Given the description of an element on the screen output the (x, y) to click on. 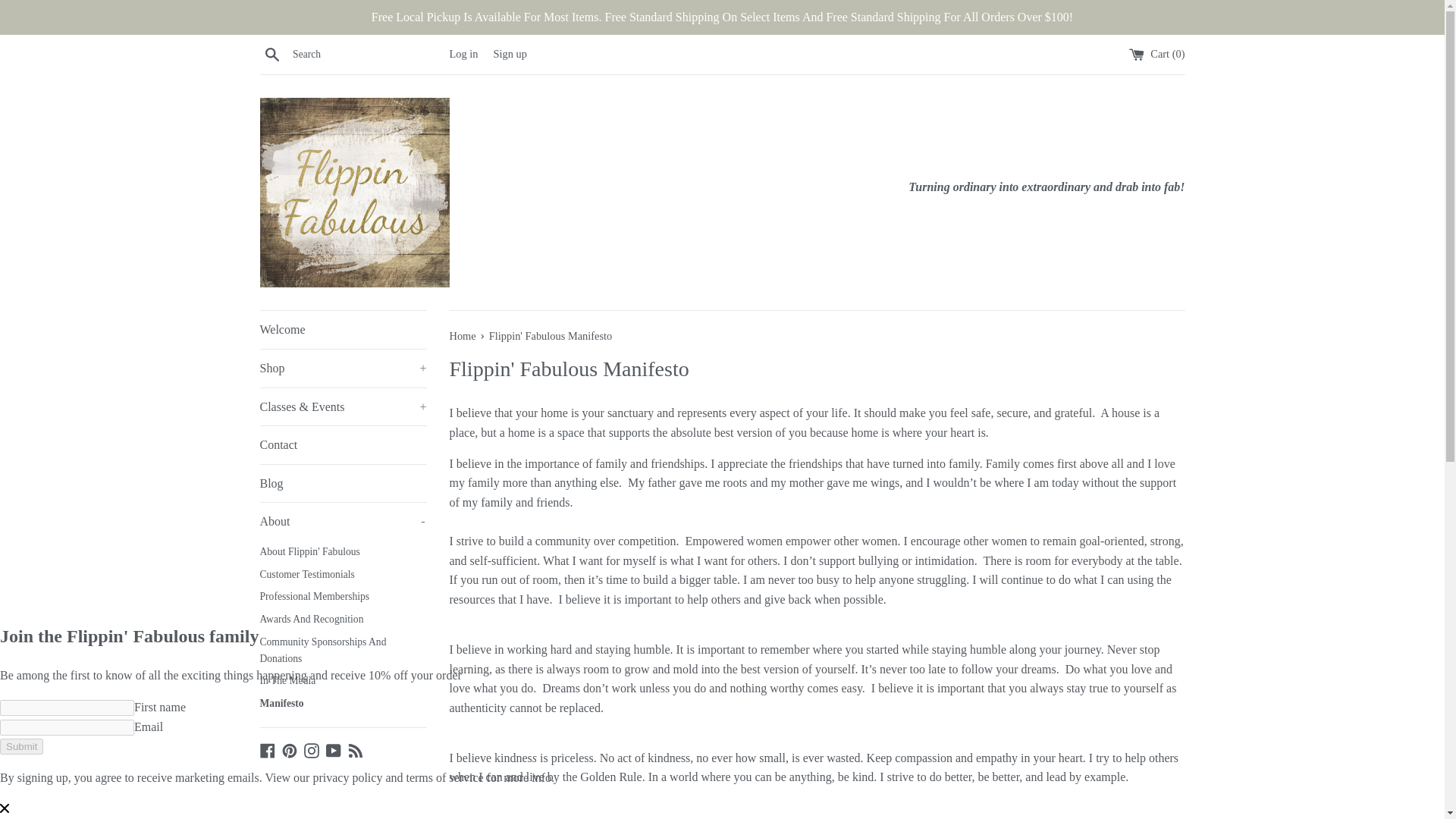
Contact (342, 444)
Flippin' Fabulous LLC on Pinterest (289, 748)
Blog (342, 483)
Flippin' Fabulous LLC on Instagram (310, 748)
Welcome (342, 329)
Sign up (510, 53)
Manifesto (342, 703)
Log in (462, 53)
Flippin' Fabulous LLC on YouTube (333, 748)
Flippin' Fabulous LLC on Facebook (267, 748)
